Given the description of an element on the screen output the (x, y) to click on. 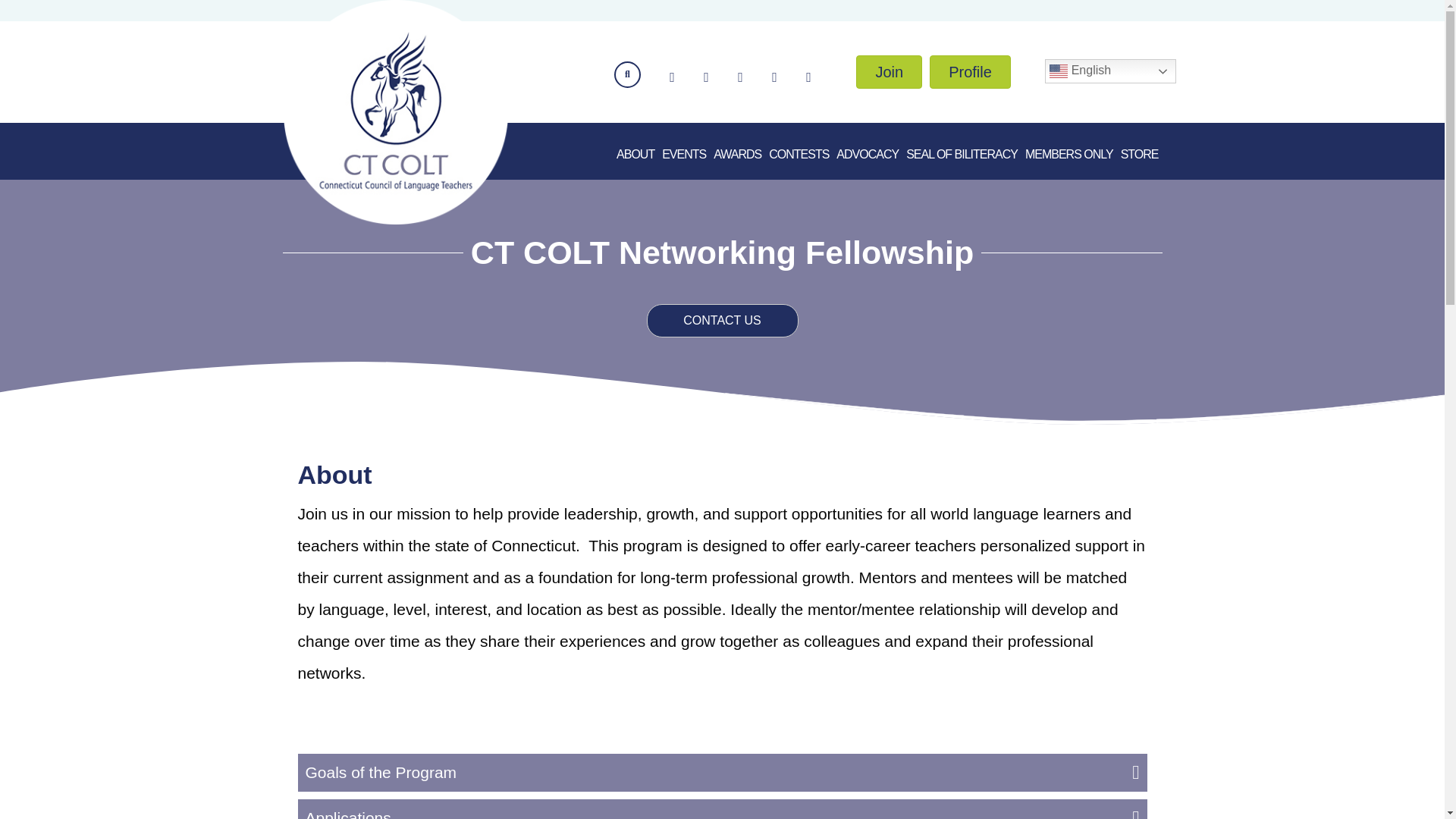
CONTESTS (798, 154)
EVENTS (684, 154)
Join (888, 71)
AWARDS (737, 154)
English (1110, 70)
Twitter (706, 76)
Facebook (672, 76)
ABOUT (635, 154)
Email (774, 76)
Instagram (740, 76)
logo2 (395, 113)
ADVOCACY (867, 154)
Profile (970, 71)
